Given the description of an element on the screen output the (x, y) to click on. 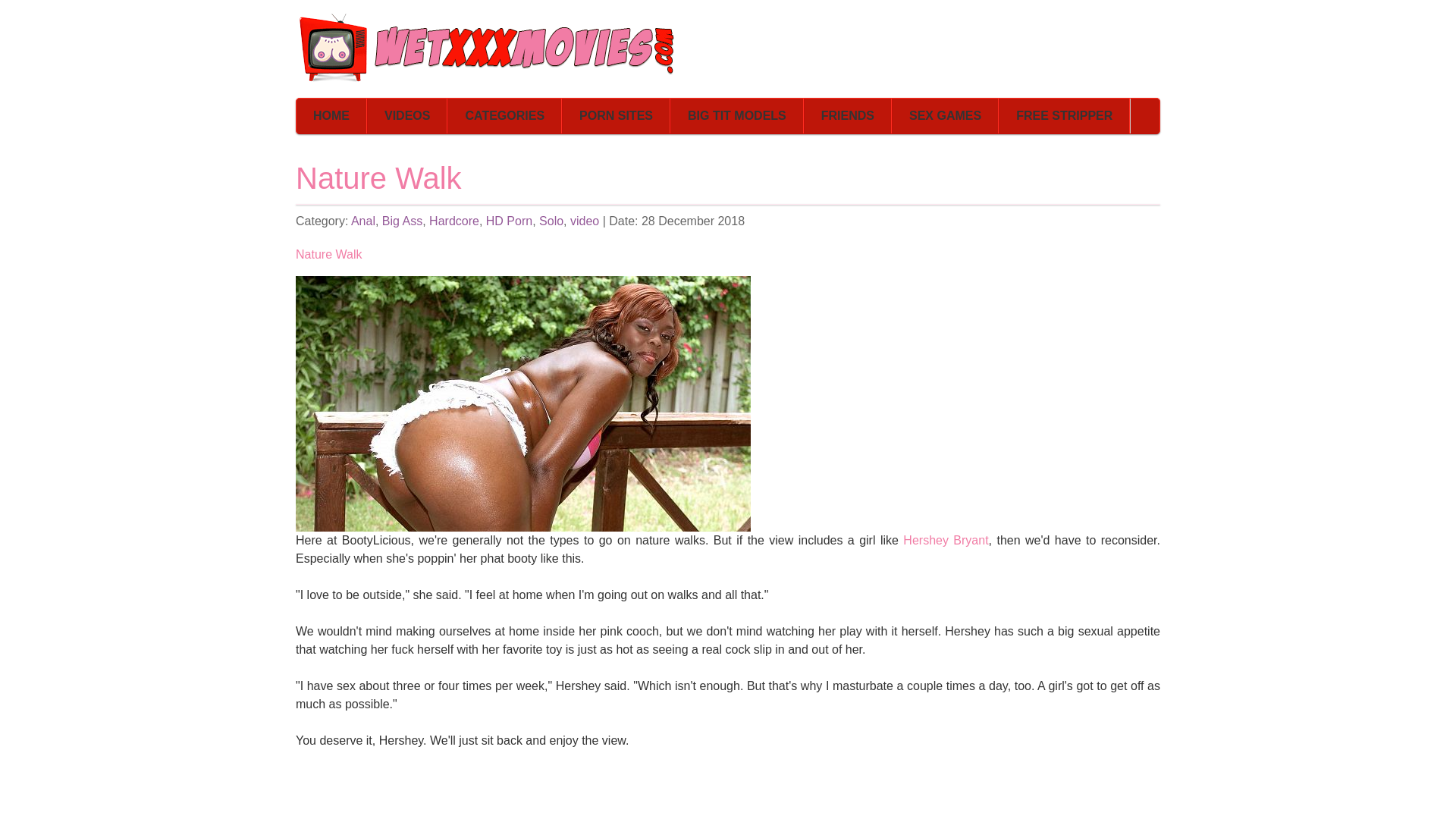
Home (331, 115)
CATEGORIES (504, 115)
Nature Walk (523, 403)
VIDEOS (407, 115)
Big Tit Models (737, 115)
HOME (331, 115)
